Given the description of an element on the screen output the (x, y) to click on. 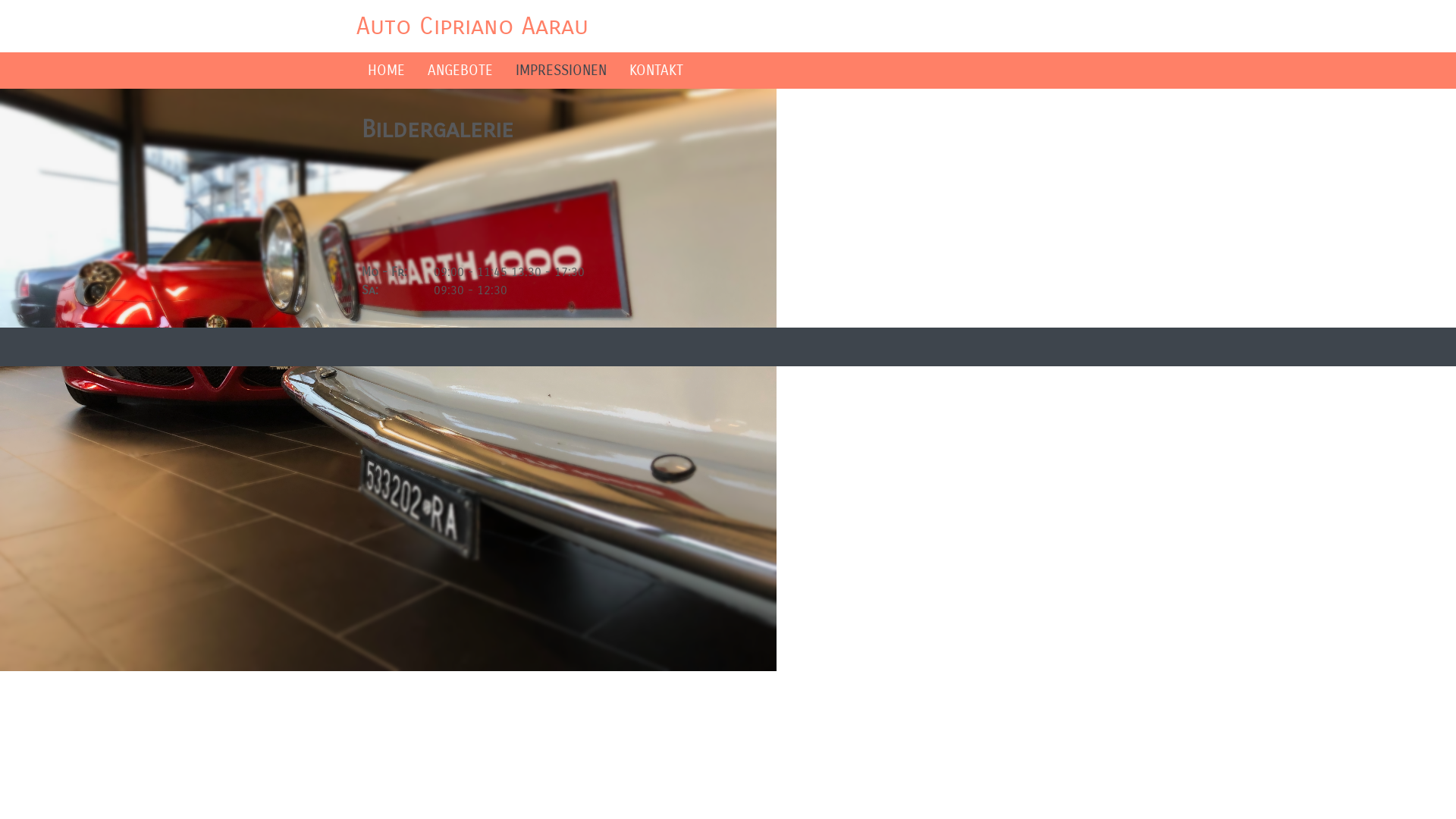
KONTAKT Element type: text (656, 70)
IMPRESSIONEN Element type: text (561, 70)
Auto Cipriano Aarau Element type: text (472, 25)
HOME Element type: text (386, 70)
ANGEBOTE Element type: text (460, 70)
